Given the description of an element on the screen output the (x, y) to click on. 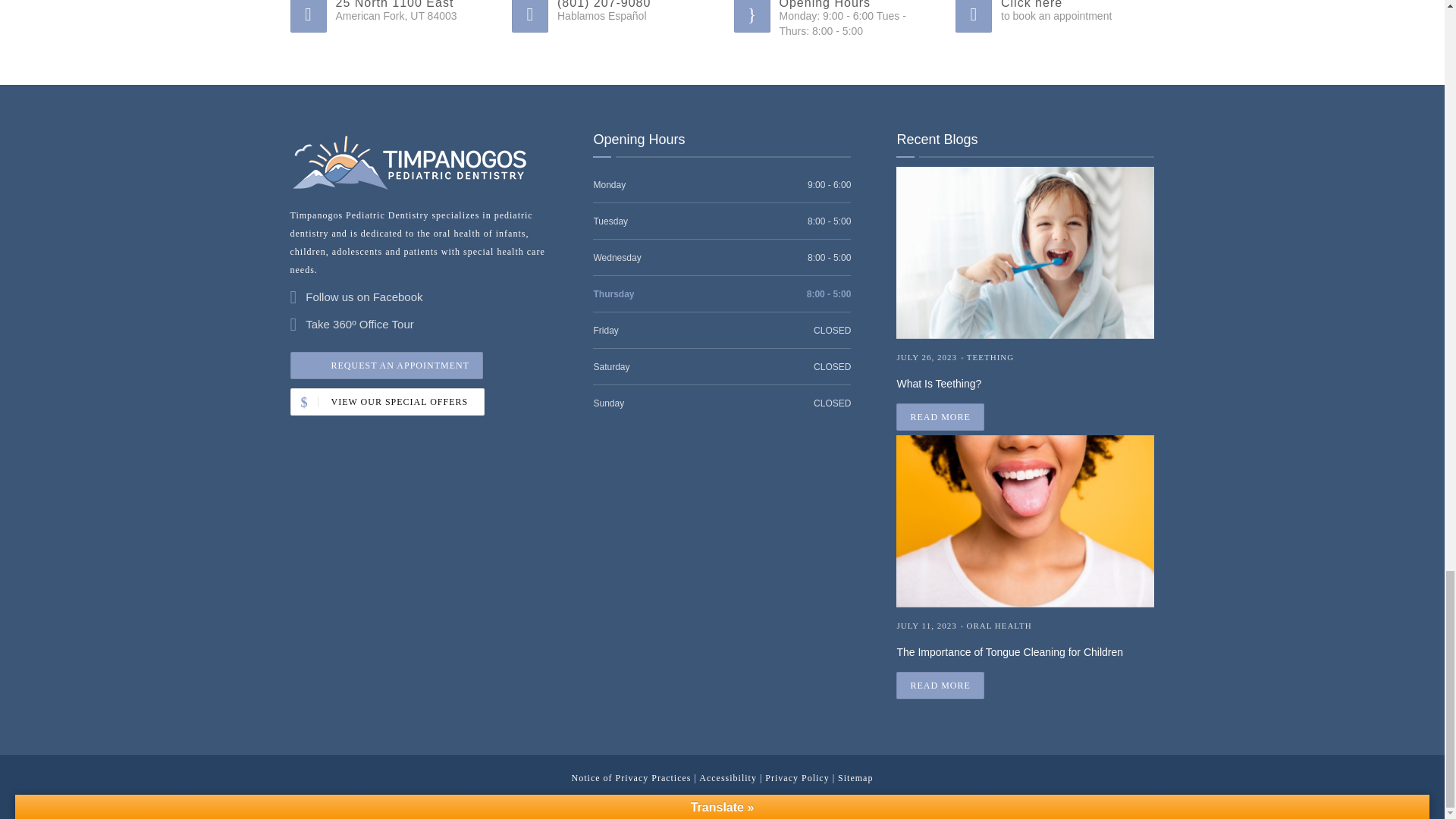
The Importance of Tongue Cleaning for Children (1025, 648)
The Importance of Tongue Cleaning for Children (940, 685)
What Is Teething? (940, 416)
What Is Teething? (1025, 380)
